Given the description of an element on the screen output the (x, y) to click on. 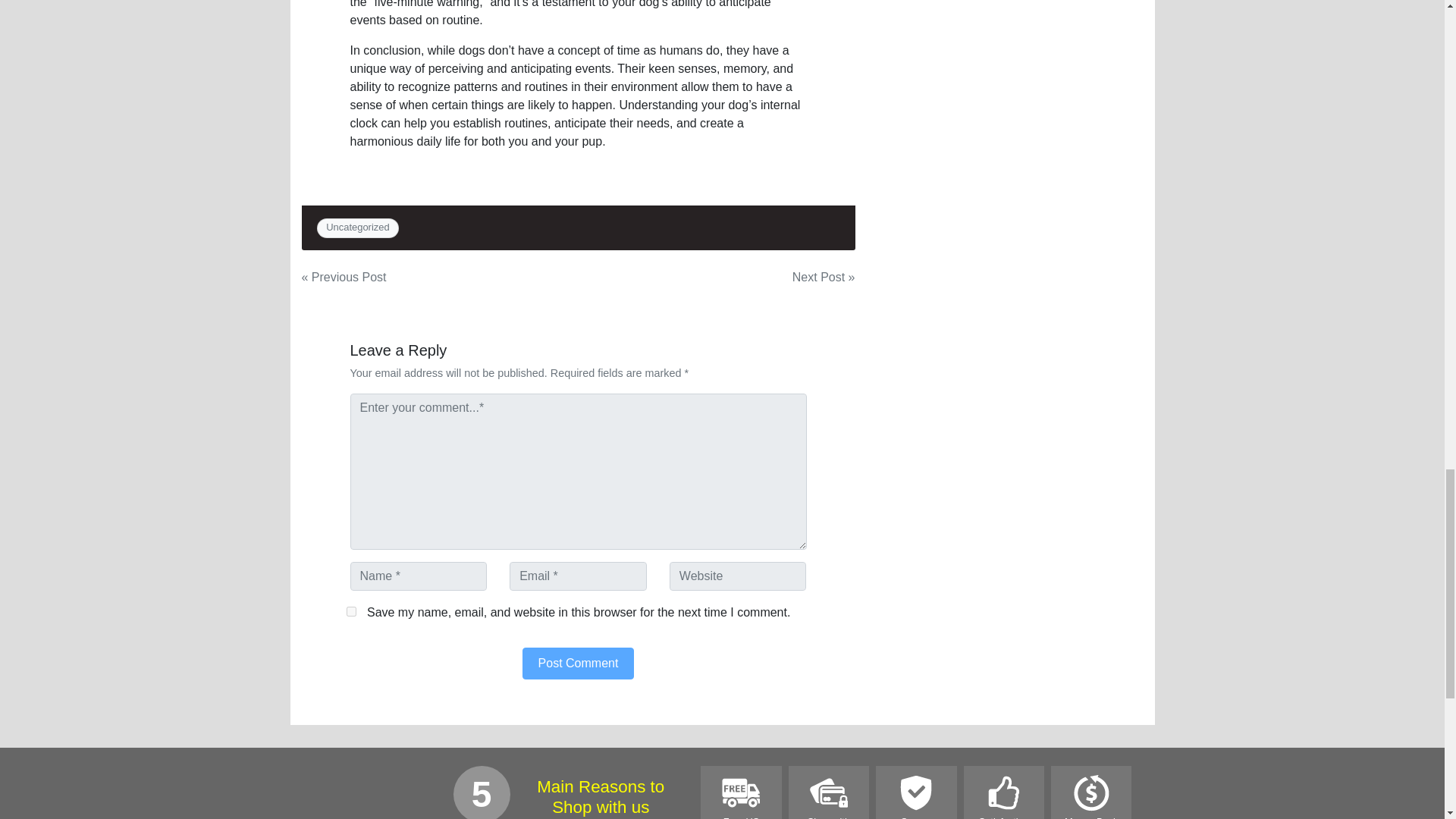
Post Comment (578, 663)
Uncategorized (358, 226)
yes (350, 611)
Post Comment (578, 663)
